Given the description of an element on the screen output the (x, y) to click on. 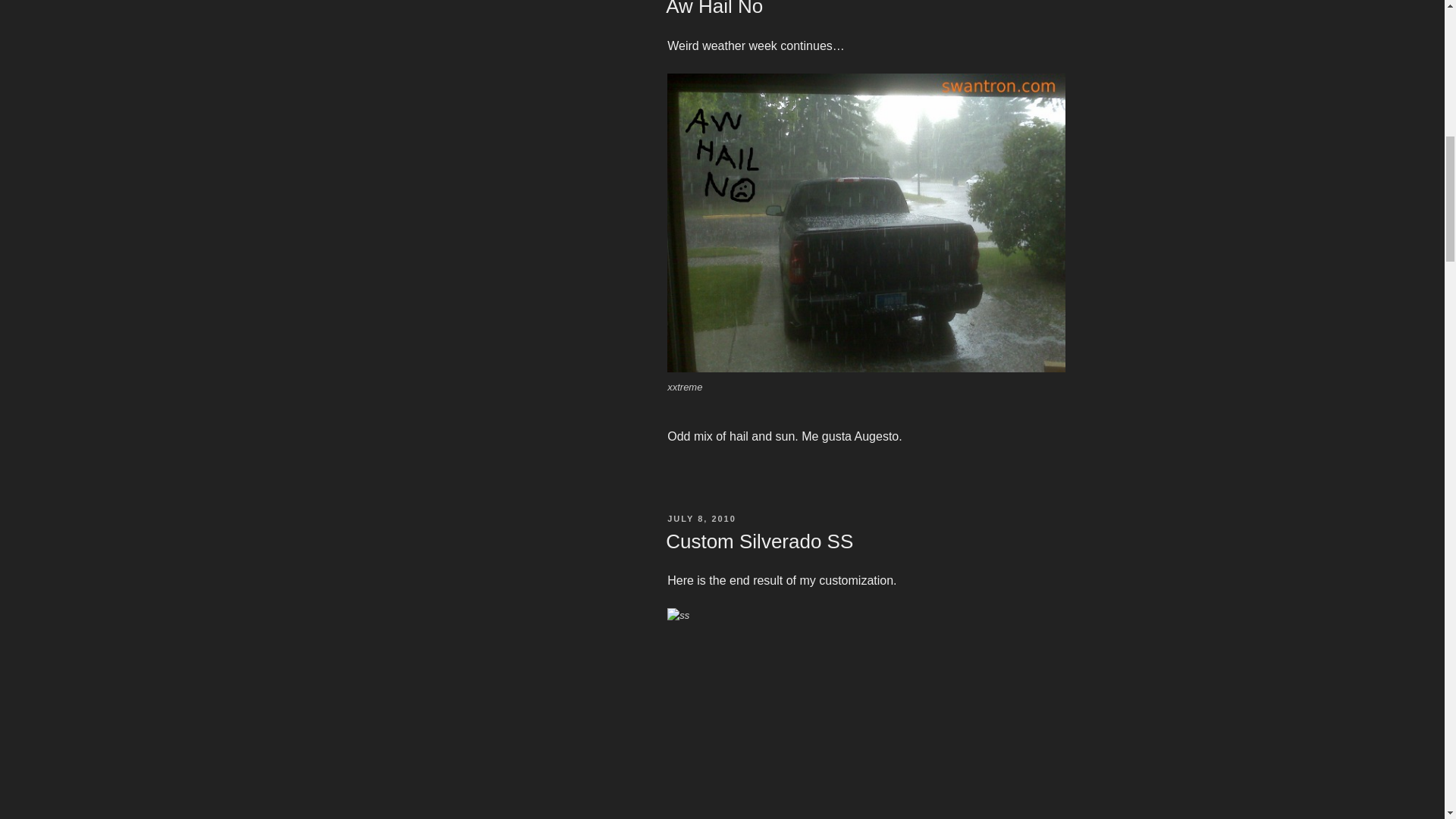
aw-hail-no (865, 222)
JULY 8, 2010 (701, 518)
Aw Hail No (713, 8)
Silverado-SS (865, 713)
Custom Silverado SS (759, 540)
